Given the description of an element on the screen output the (x, y) to click on. 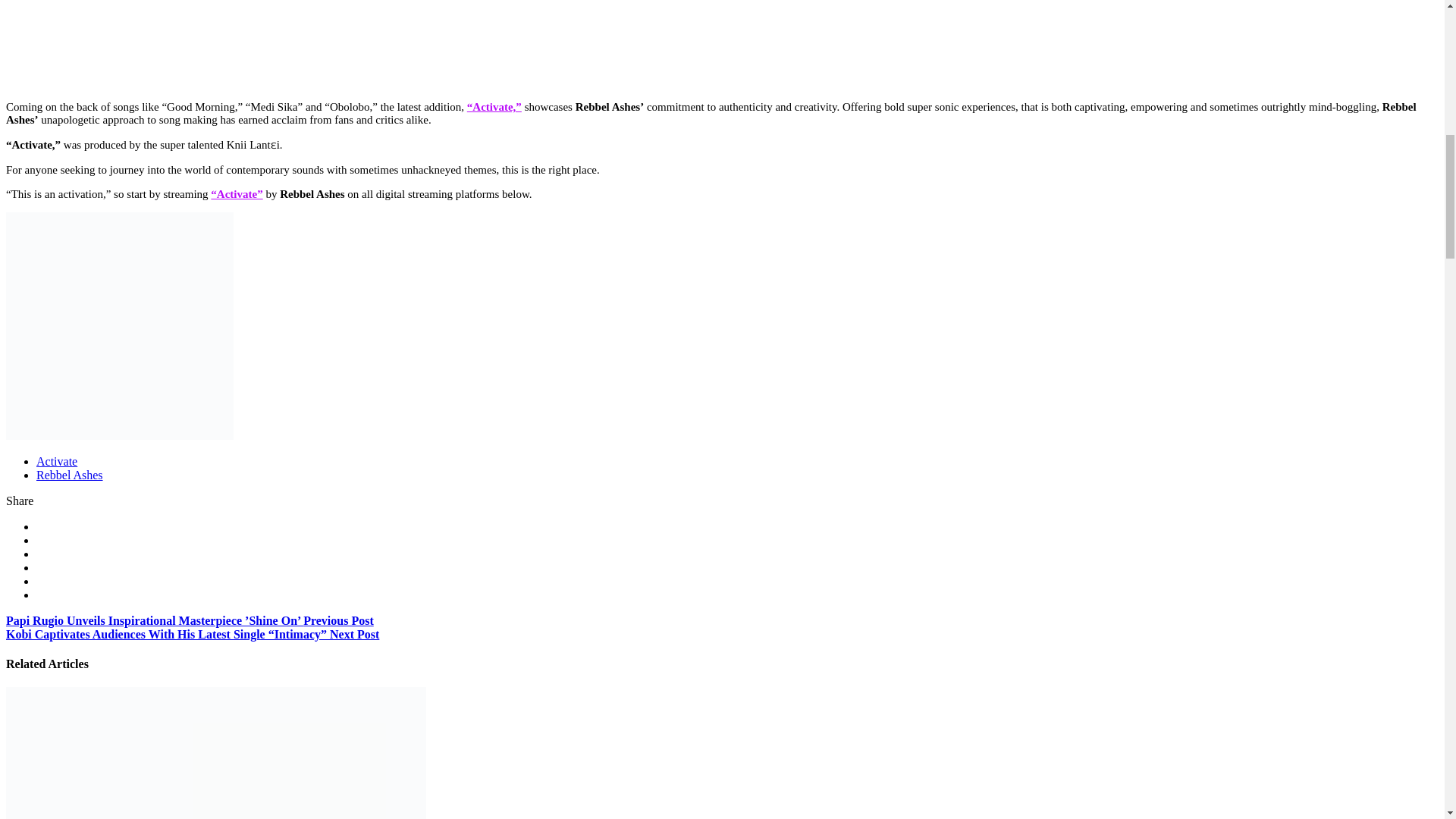
Activate (56, 461)
Rebbel Ashes (69, 474)
